Given the description of an element on the screen output the (x, y) to click on. 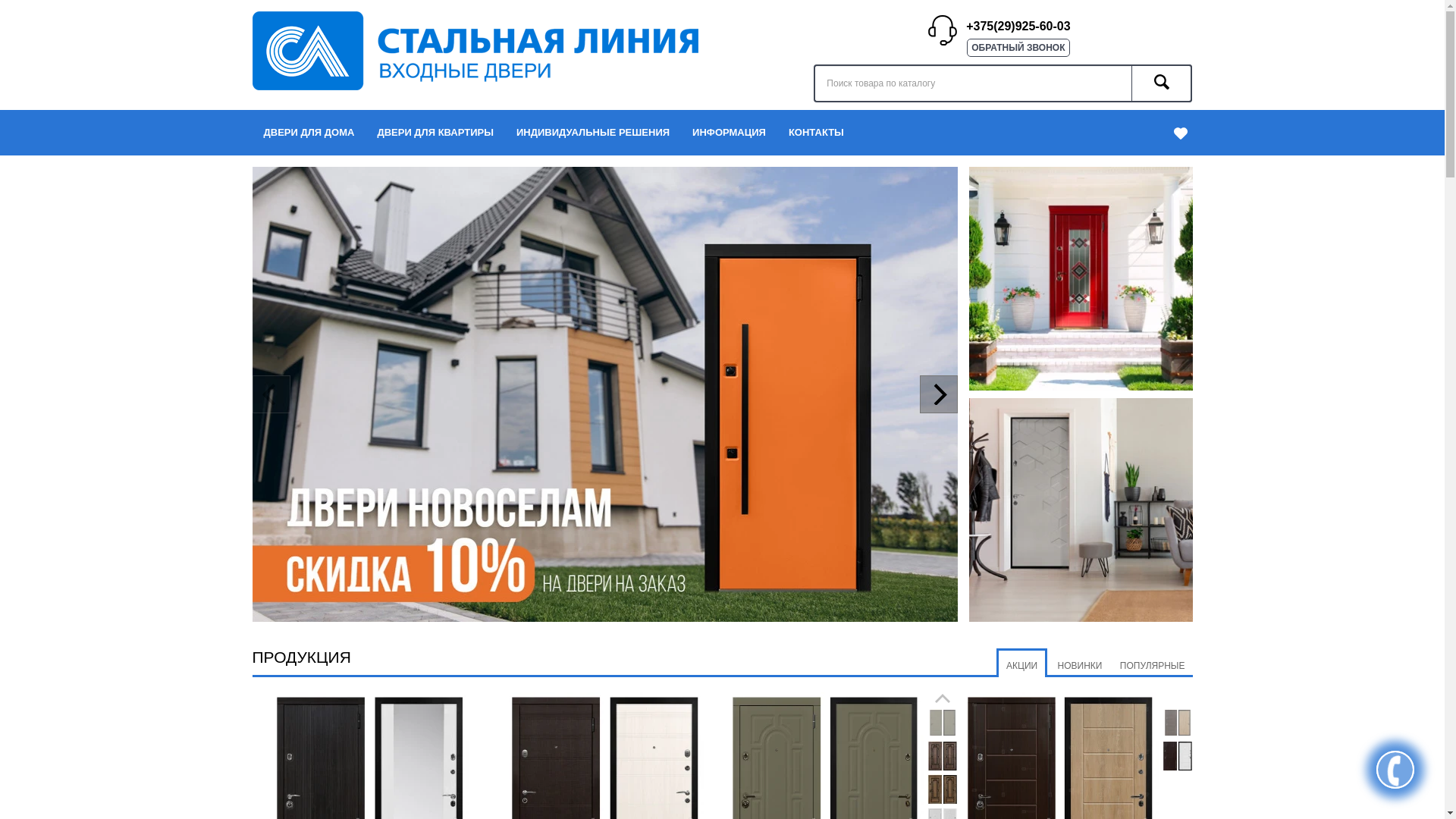
+375(29)925-60-03 Element type: text (1018, 26)
